Given the description of an element on the screen output the (x, y) to click on. 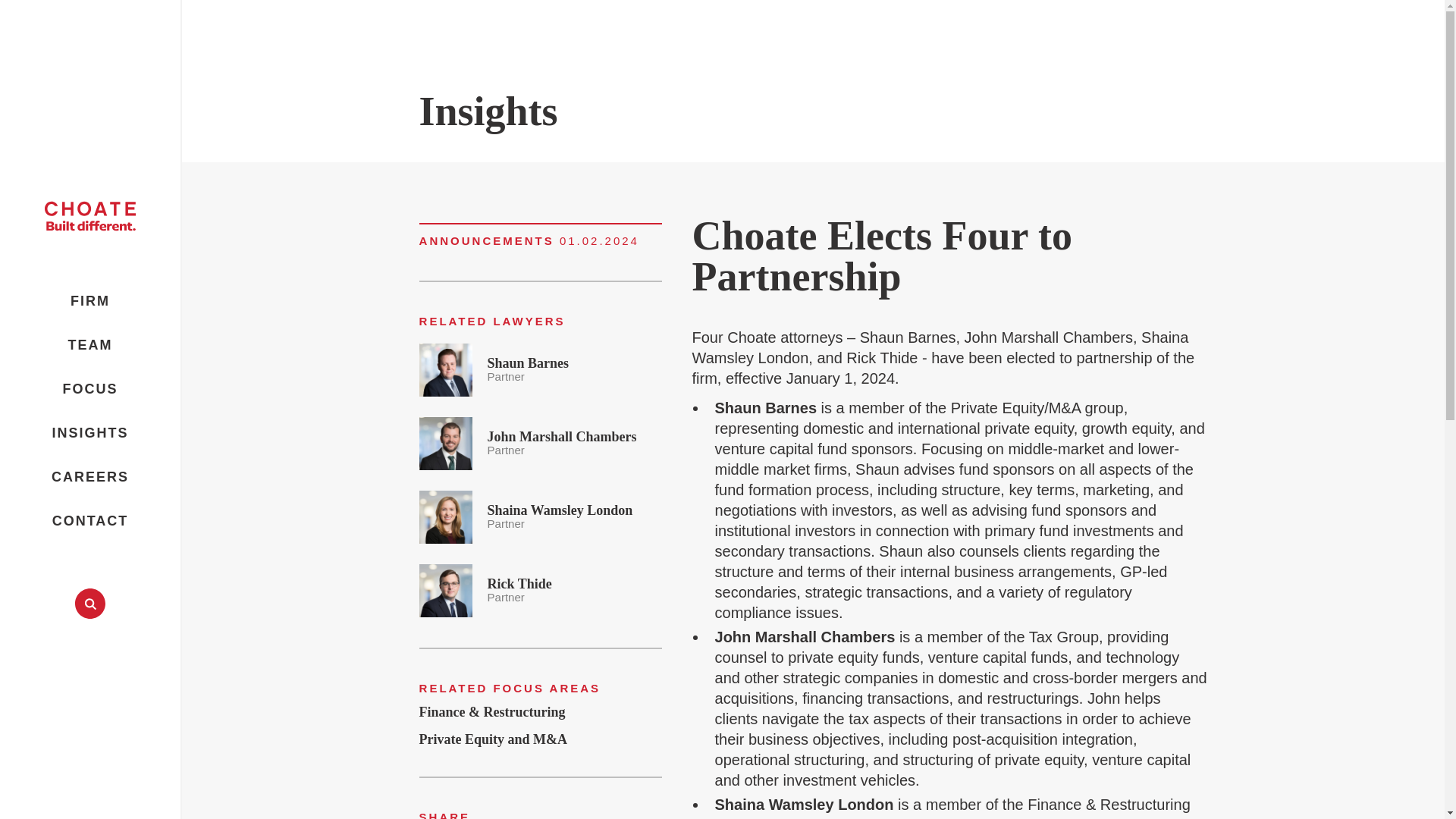
INSIGHTS (540, 440)
FIRM (540, 367)
CONTACT (89, 432)
TEAM (540, 587)
CAREERS (540, 514)
FOCUS (89, 299)
